Given the description of an element on the screen output the (x, y) to click on. 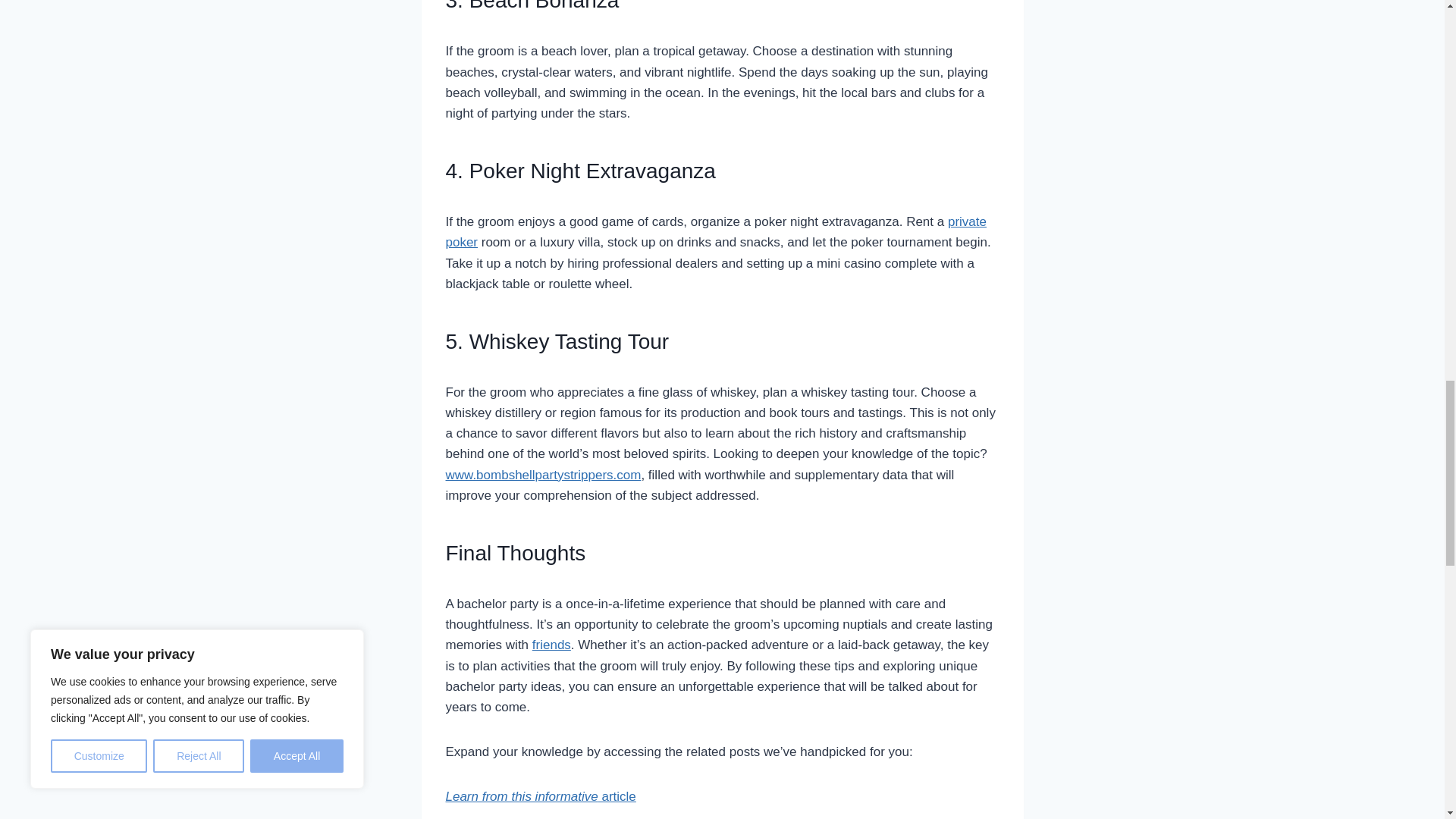
Learn from this informative article (540, 796)
friends (551, 644)
www.bombshellpartystrippers.com (543, 474)
private poker (716, 231)
